Given the description of an element on the screen output the (x, y) to click on. 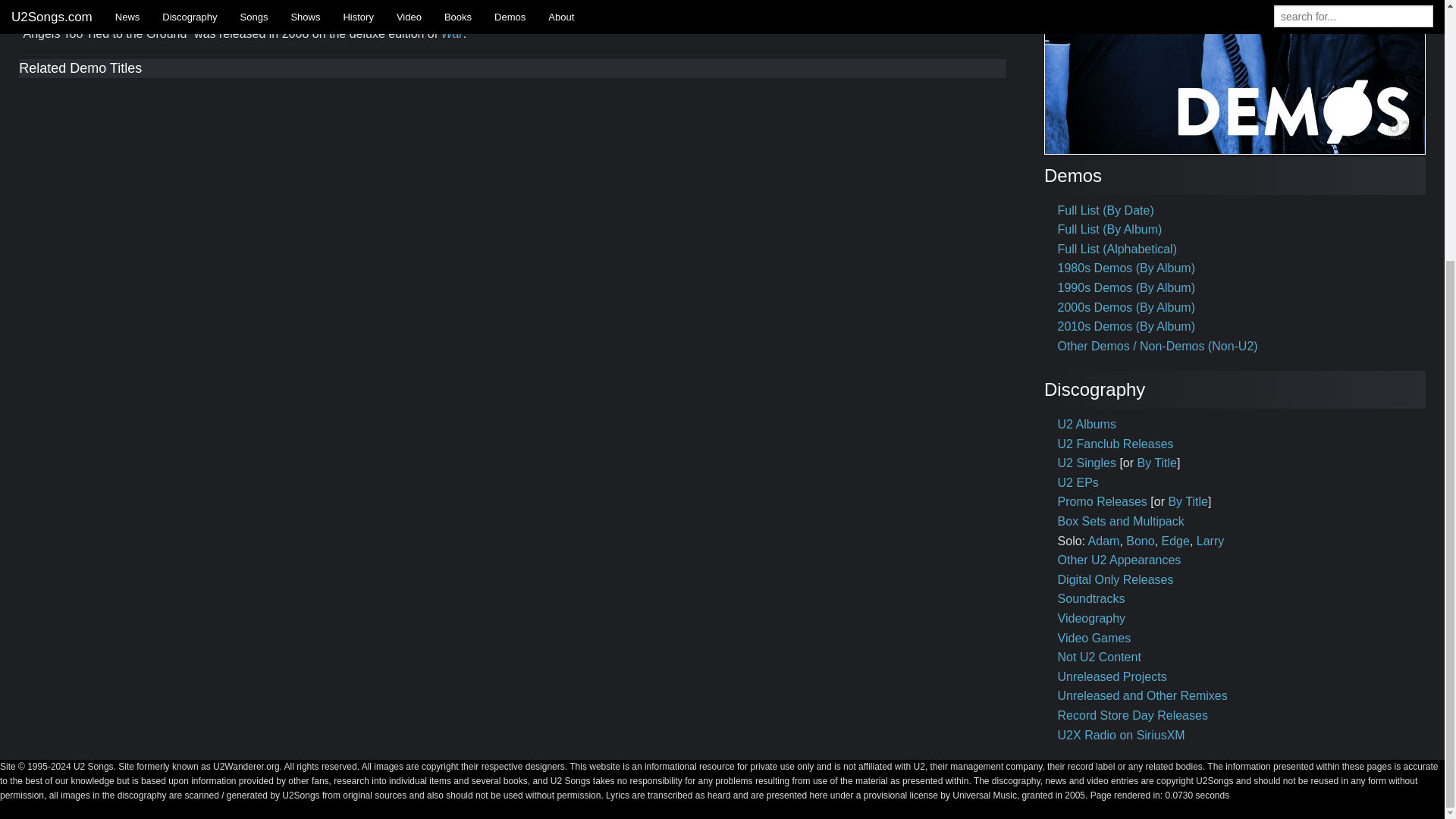
Adam (1103, 540)
War (452, 33)
By Title (1187, 501)
U2 Fanclub Releases (1115, 443)
By Title (1156, 462)
Not U2 Content (1099, 656)
Bono (1139, 540)
Box Sets and Multipack (1121, 521)
U2 EPs (1078, 481)
Videography (1091, 617)
Video Games (1094, 637)
Soundtracks (1091, 598)
Digital Only Releases (1115, 579)
U2 Albums (1087, 423)
Other U2 Appearances (1119, 559)
